Given the description of an element on the screen output the (x, y) to click on. 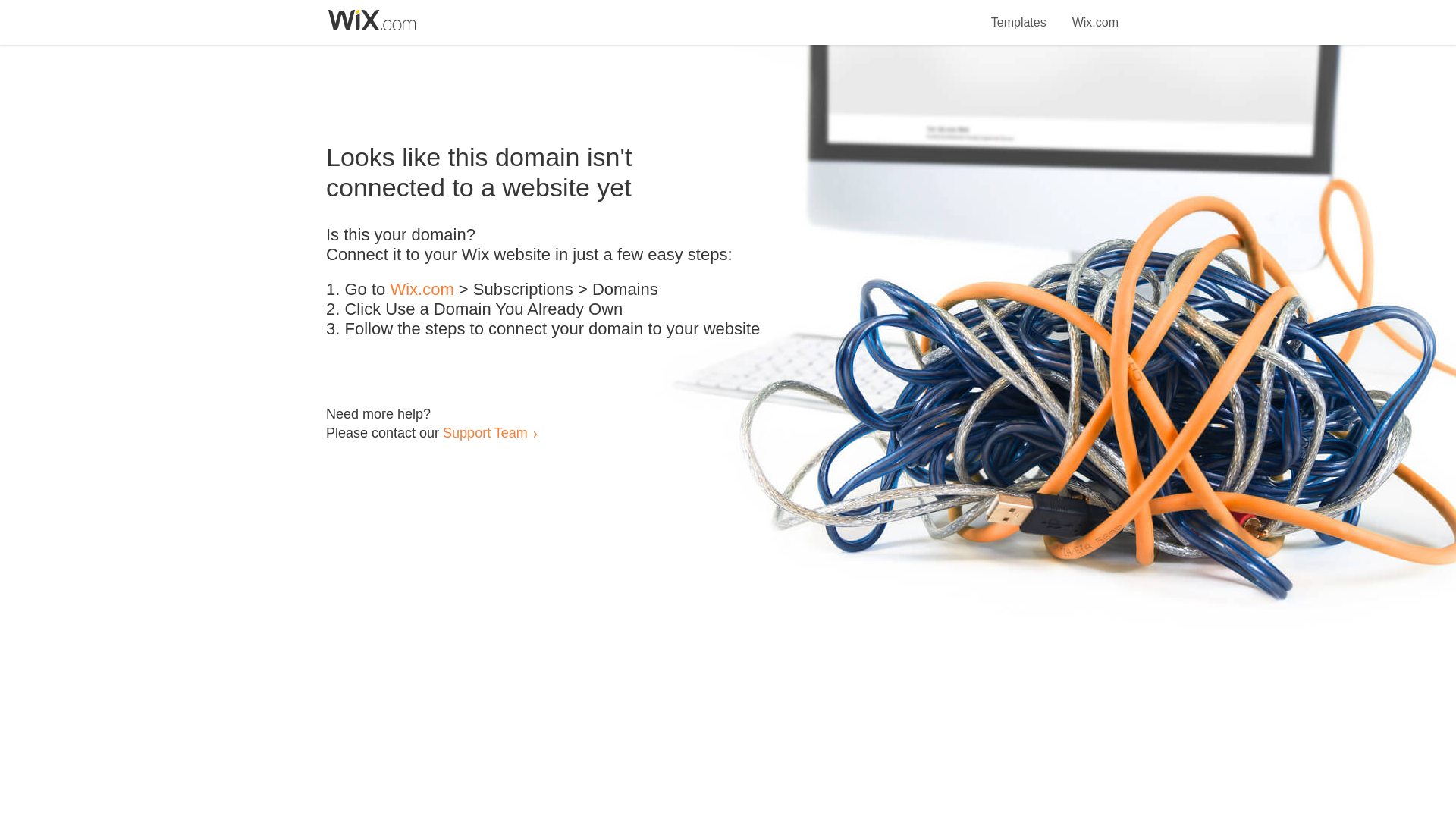
Support Team (484, 432)
Templates (1018, 14)
Wix.com (1095, 14)
Wix.com (421, 289)
